Given the description of an element on the screen output the (x, y) to click on. 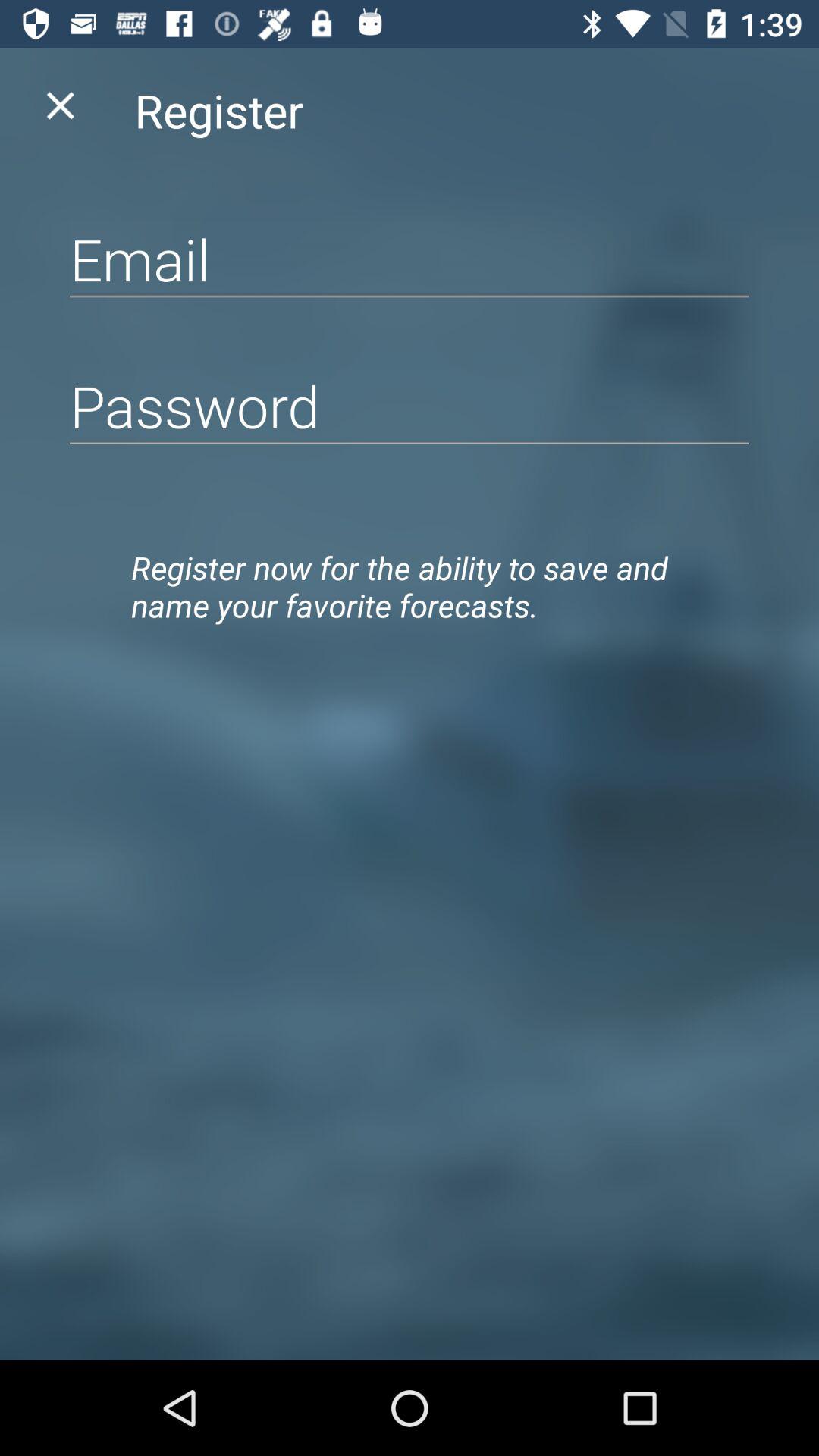
open the item below the register icon (409, 258)
